Given the description of an element on the screen output the (x, y) to click on. 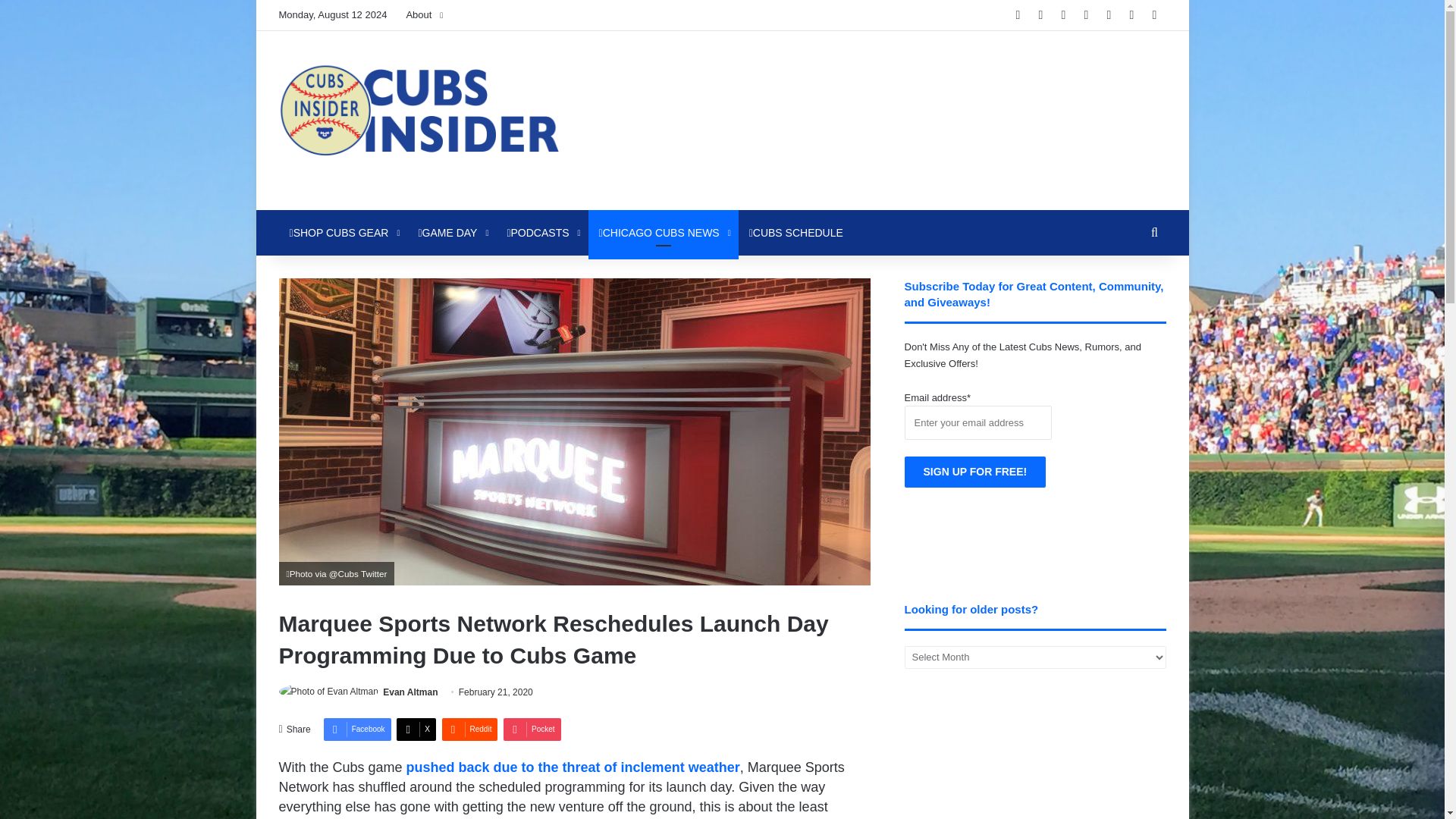
Facebook (357, 729)
Cubs Insider (419, 120)
CHICAGO CUBS NEWS (663, 232)
X (415, 729)
PODCASTS (542, 232)
Reddit (469, 729)
Facebook (357, 729)
Pocket (531, 729)
Pocket (531, 729)
CUBS SCHEDULE (795, 232)
